Given the description of an element on the screen output the (x, y) to click on. 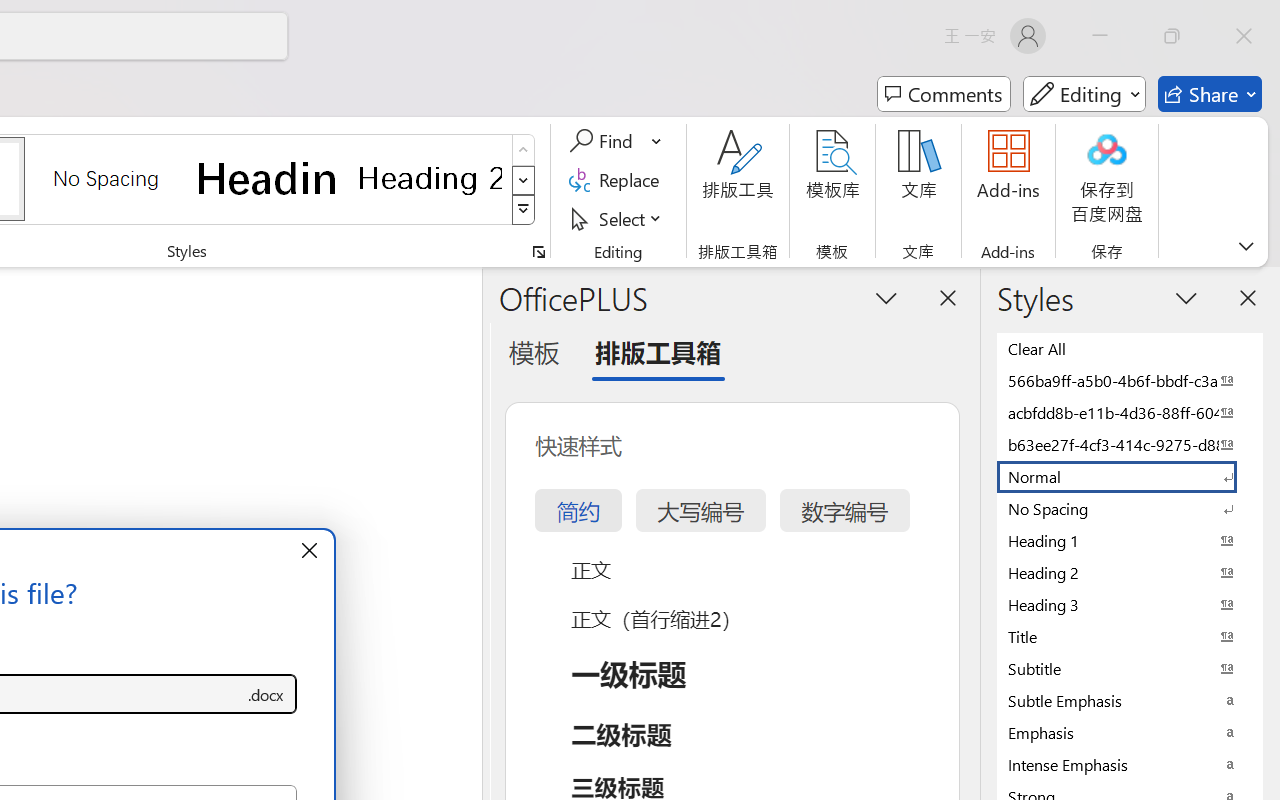
Comments (943, 94)
Styles... (538, 252)
Heading 3 (1130, 604)
Replace... (617, 179)
Class: NetUIImage (523, 210)
Select (618, 218)
Normal (1130, 476)
Row Down (523, 180)
